Given the description of an element on the screen output the (x, y) to click on. 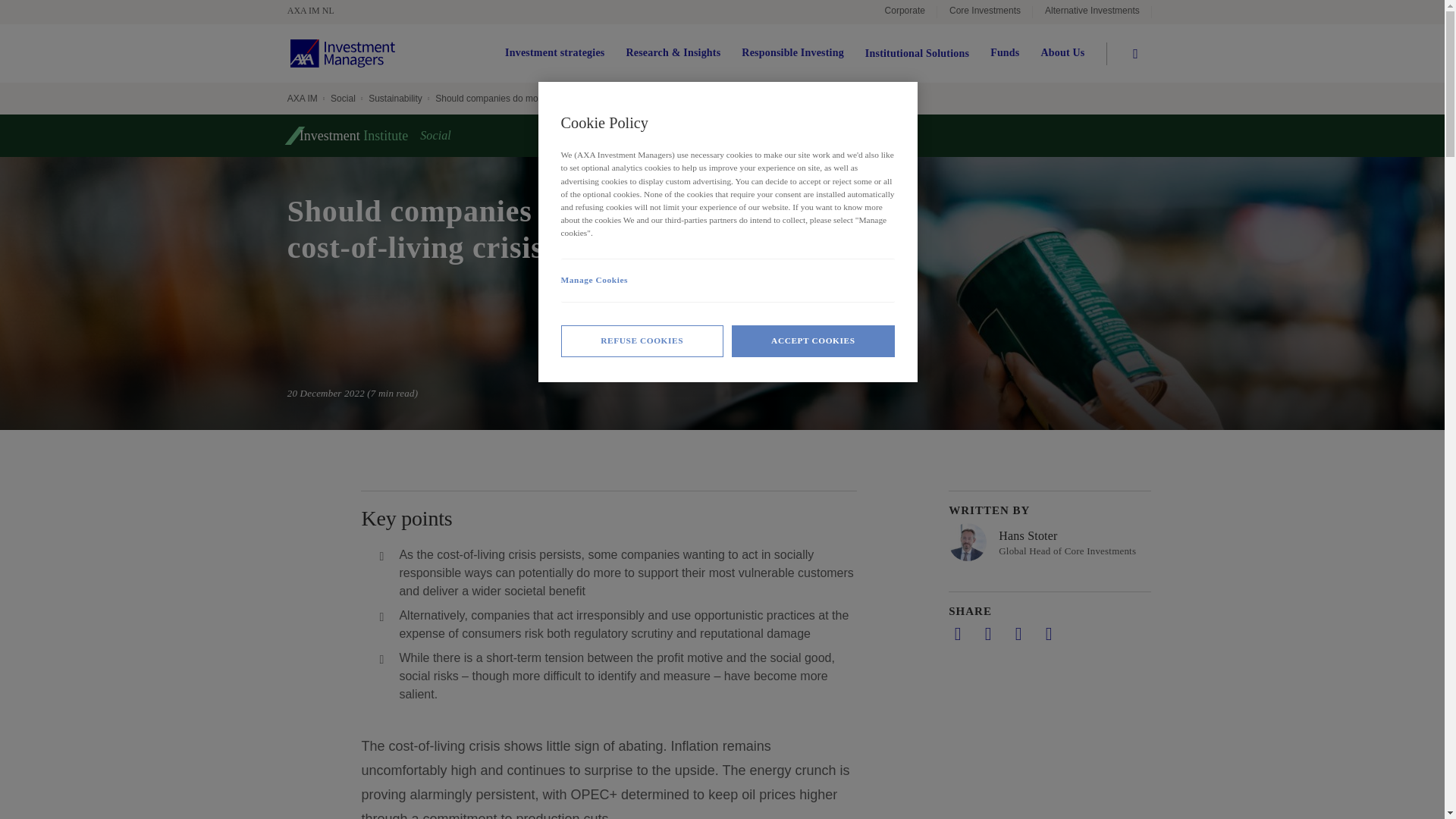
Investment strategies (554, 53)
Home (317, 10)
Corporate (904, 12)
Core Investments (984, 12)
Home (341, 53)
Share on twitter (987, 633)
Alternative Investments (1091, 12)
Share on LinkedIn (957, 633)
About Us (1062, 53)
Shared by mail (1018, 633)
Funds (1004, 53)
AXA IM NL (317, 10)
Institutional Solutions (916, 53)
Copy URL (1048, 633)
Responsible Investing (792, 53)
